Given the description of an element on the screen output the (x, y) to click on. 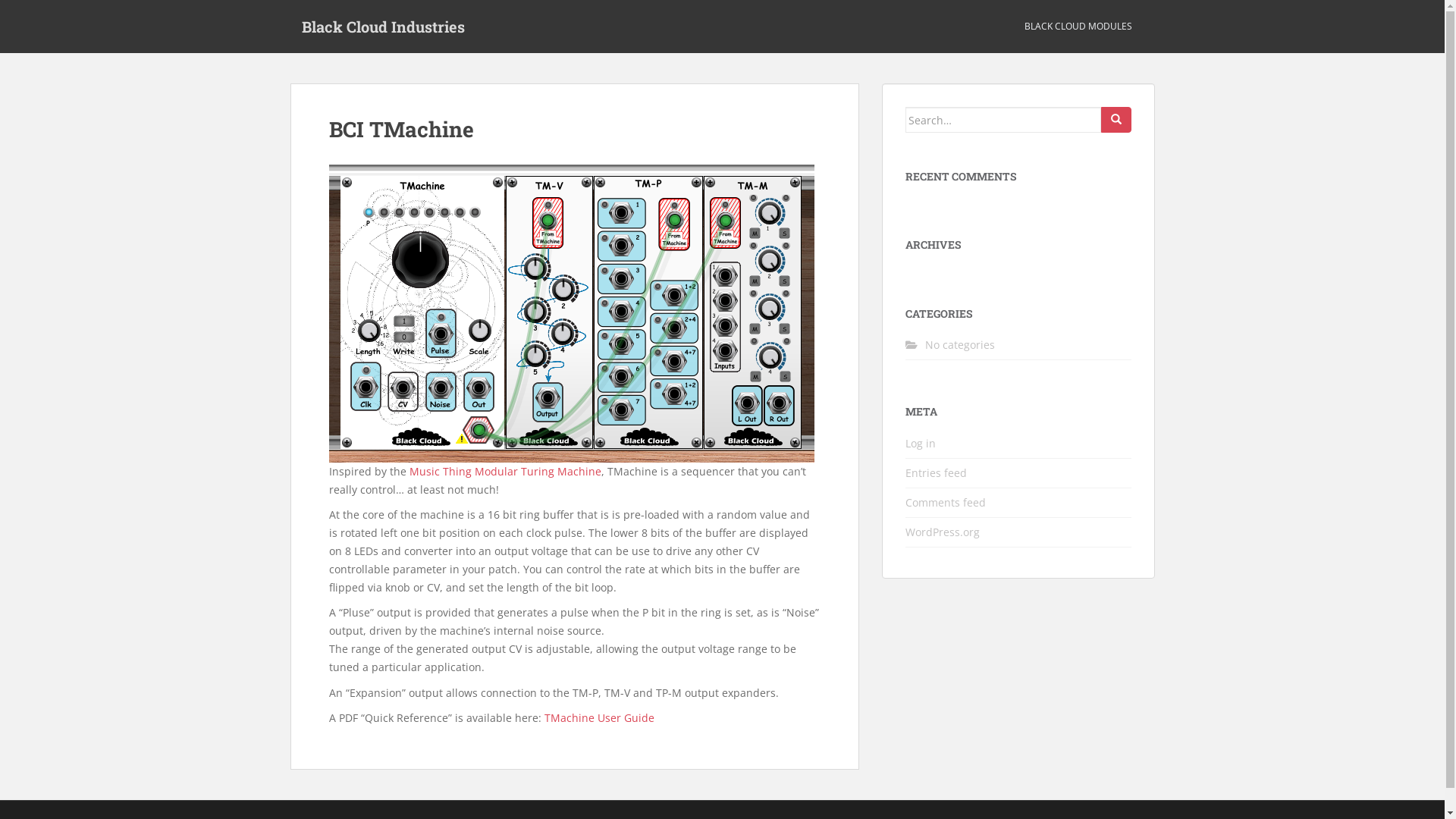
Search for: Element type: hover (1003, 119)
TMachine User Guide Element type: text (599, 717)
Music Thing Modular Turing Machine Element type: text (505, 471)
Search Element type: text (1116, 119)
Black Cloud Industries Element type: text (382, 26)
Log in Element type: text (920, 443)
BLACK CLOUD MODULES Element type: text (1077, 26)
Comments feed Element type: text (945, 502)
WordPress.org Element type: text (942, 531)
Entries feed Element type: text (935, 472)
